Given the description of an element on the screen output the (x, y) to click on. 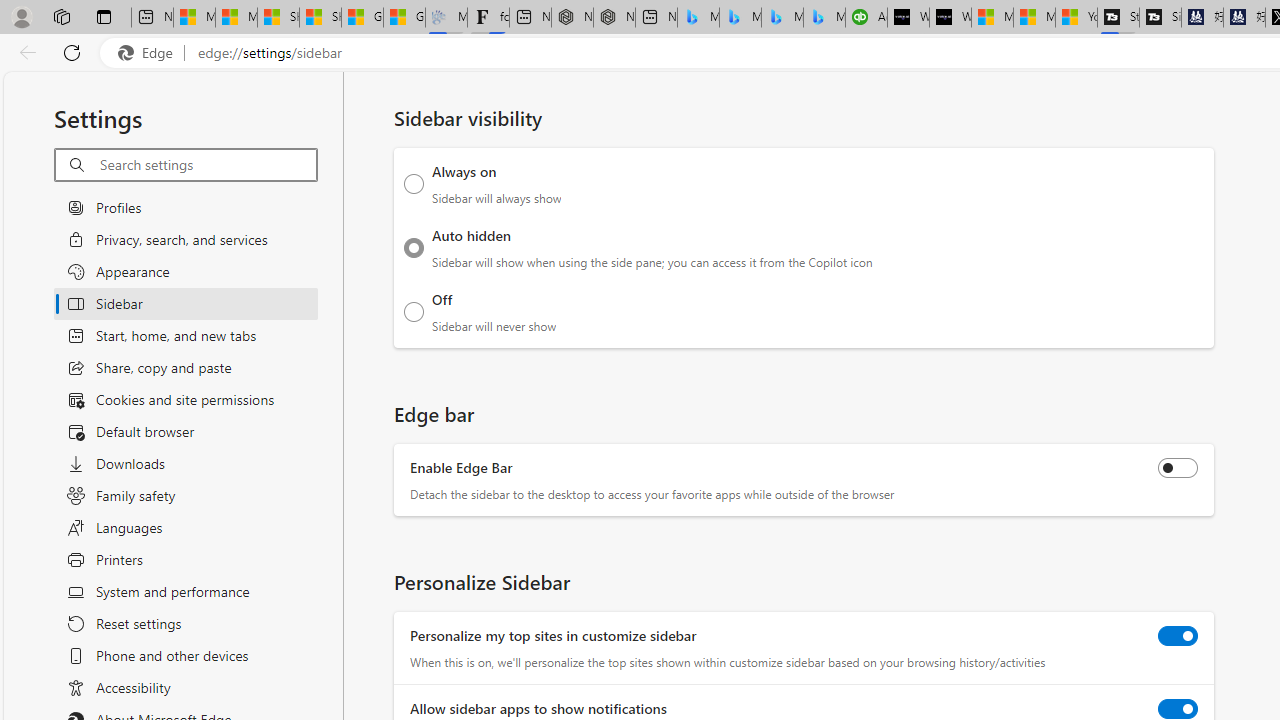
Edge (150, 53)
Microsoft Bing Travel - Stays in Bangkok, Bangkok, Thailand (740, 17)
Search settings (207, 165)
Microsoft Bing Travel - Shangri-La Hotel Bangkok (823, 17)
Personalize my top sites in customize sidebar (1178, 635)
